Given the description of an element on the screen output the (x, y) to click on. 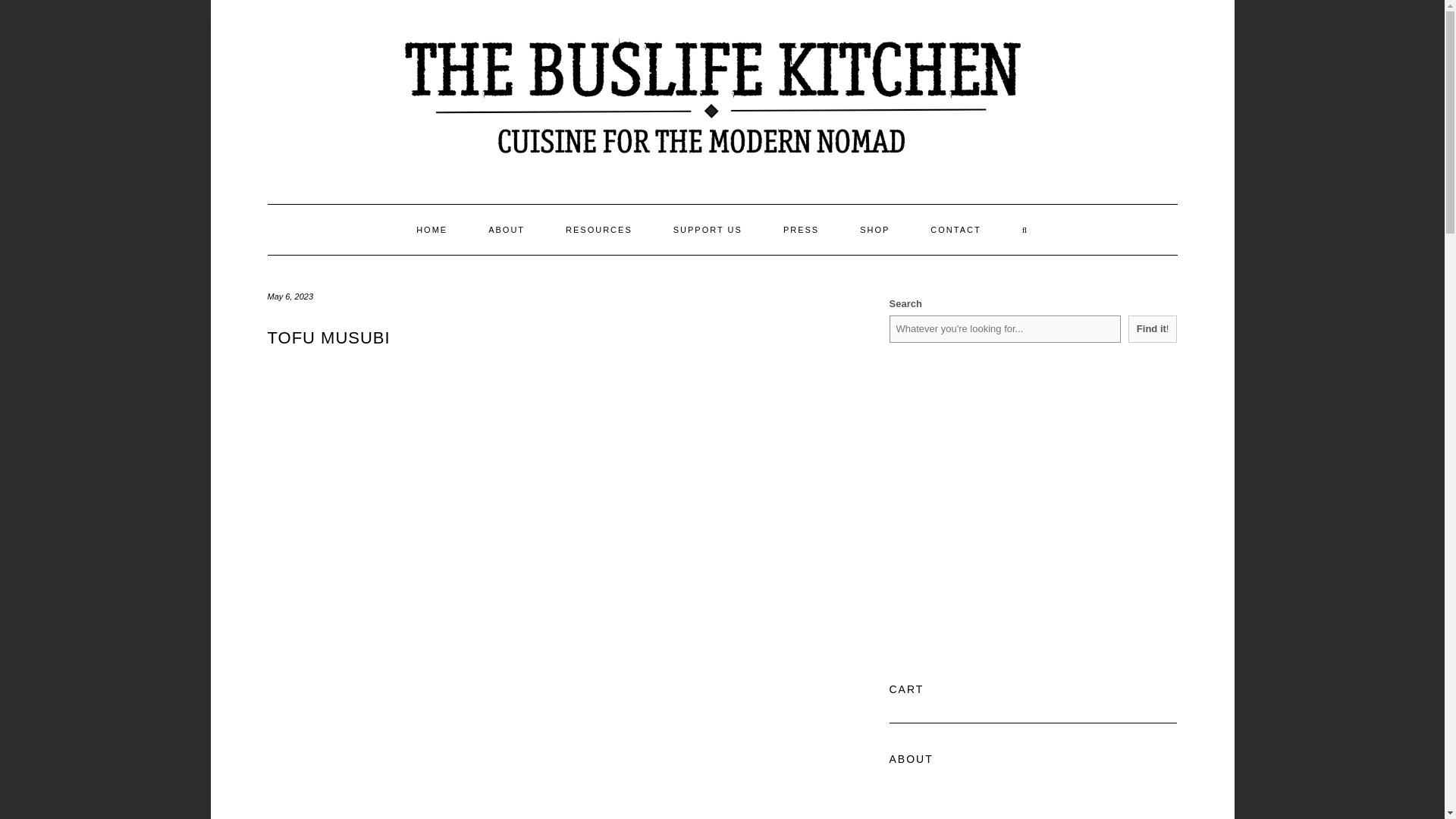
CONTACT (955, 229)
Find it! (1152, 329)
HOME (431, 229)
ABOUT (505, 229)
SHOP (875, 229)
SUPPORT US (707, 229)
RESOURCES (598, 229)
PRESS (801, 229)
